Given the description of an element on the screen output the (x, y) to click on. 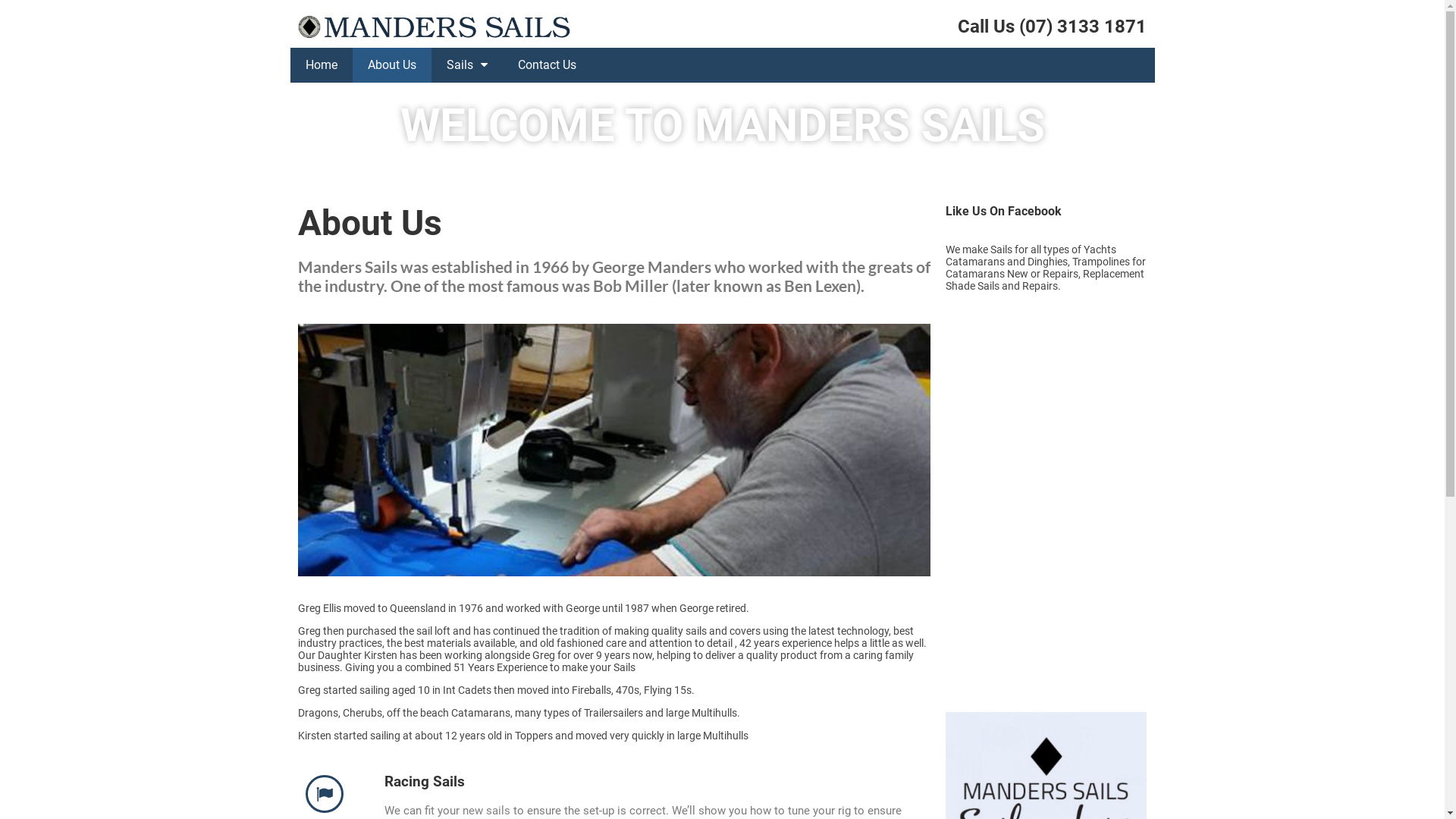
new sails Element type: text (486, 810)
Home Element type: text (320, 64)
Call Us (07) 3133 1871 Element type: text (1051, 26)
Contact Us Element type: text (546, 64)
Sails Element type: text (466, 64)
About Us Element type: text (390, 64)
